Given the description of an element on the screen output the (x, y) to click on. 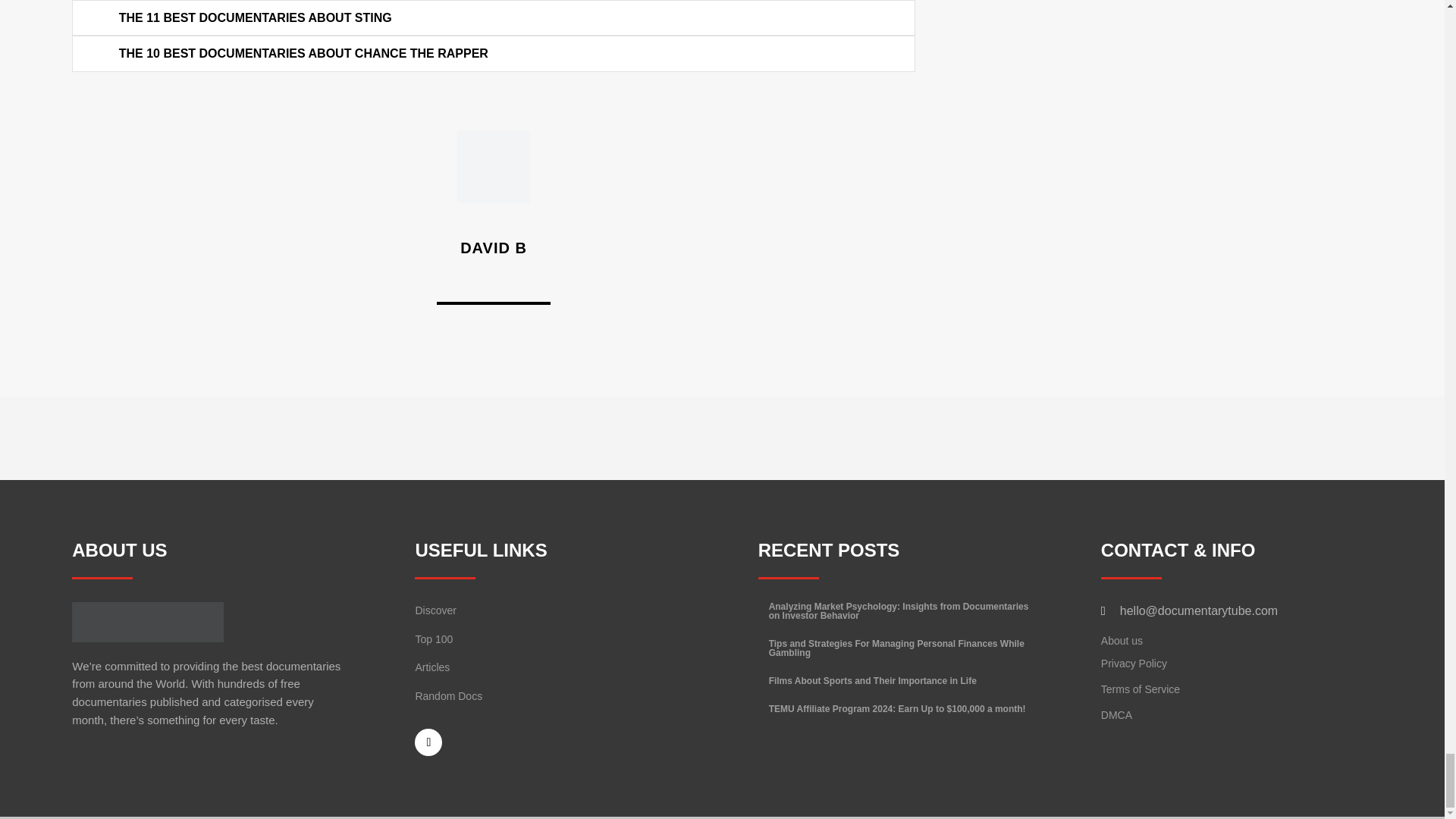
THE 10 BEST DOCUMENTARIES ABOUT CHANCE THE RAPPER (303, 52)
Follow on Facebook (428, 741)
dc-removebg-preview (147, 621)
THE 11 BEST DOCUMENTARIES ABOUT STING (255, 17)
